Given the description of an element on the screen output the (x, y) to click on. 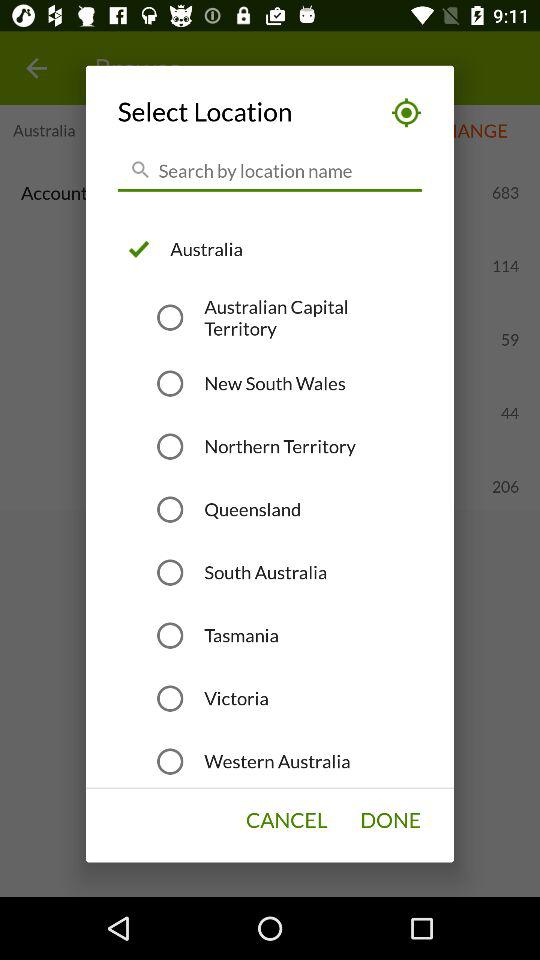
turn on item below the new south wales icon (279, 446)
